Given the description of an element on the screen output the (x, y) to click on. 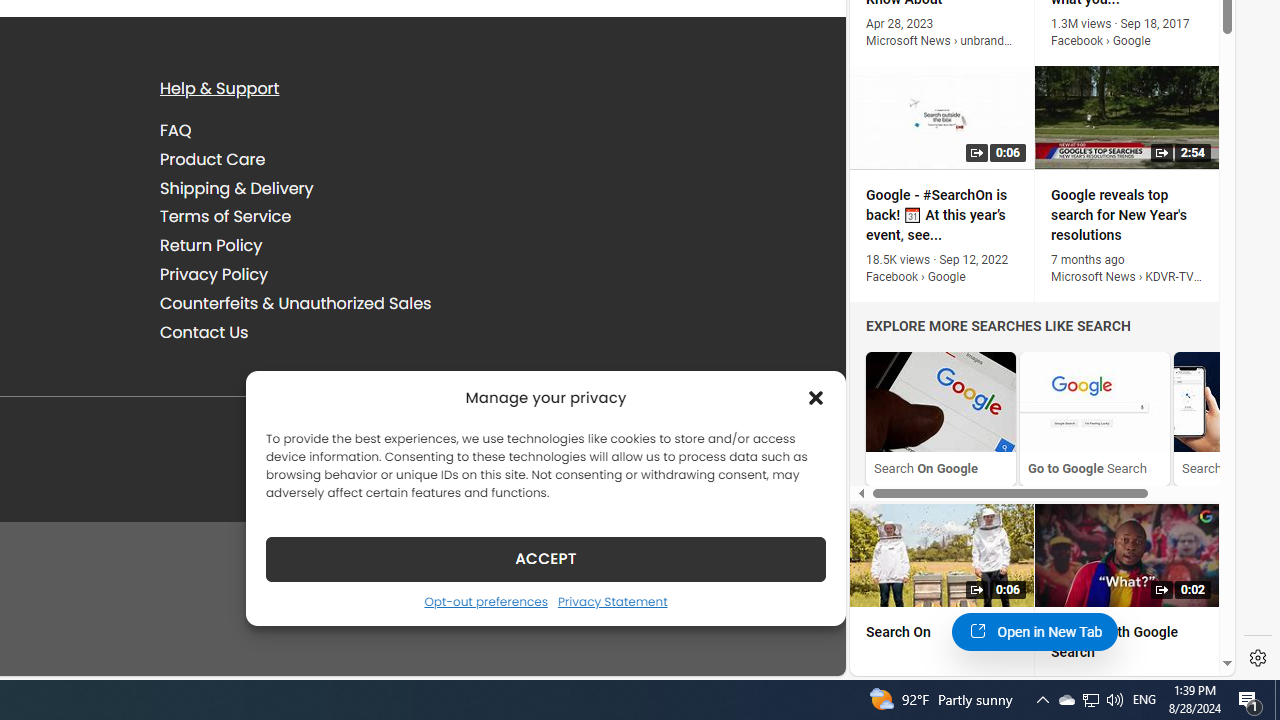
Shipping & Delivery (236, 187)
Search On Google (941, 418)
Terms of Service (225, 216)
Class: cmplz-close (815, 397)
ACCEPT (545, 558)
Opt-out preferences (485, 601)
Product Care (325, 159)
Return Policy (211, 245)
Contact Us (325, 332)
Go to top (804, 647)
Search On Google (941, 401)
Go to Google Search (1094, 401)
Product Care (213, 158)
Contact Us (204, 331)
